Given the description of an element on the screen output the (x, y) to click on. 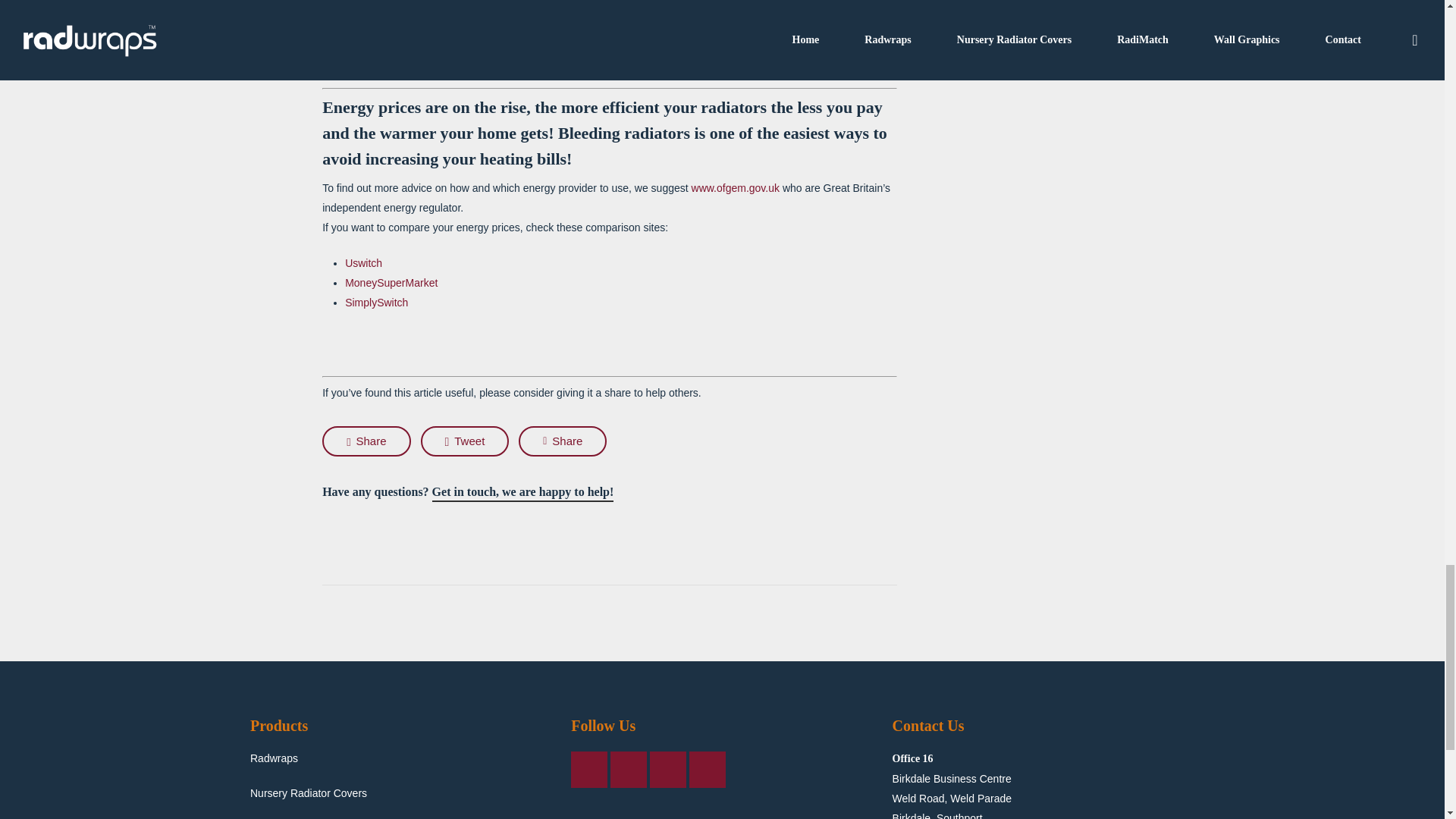
Uswitch (363, 263)
allow the circulation of warm air to continue (775, 3)
Tweet this (464, 440)
SimplySwitch (376, 302)
Share this (365, 440)
Get in touch, we are happy to help! (523, 492)
Tweet (464, 440)
www.ofgem.gov.uk (734, 187)
Share (365, 440)
Share (562, 440)
MoneySuperMarket (391, 282)
curtains could also steal the emitted heat (446, 21)
Share this (562, 440)
